Given the description of an element on the screen output the (x, y) to click on. 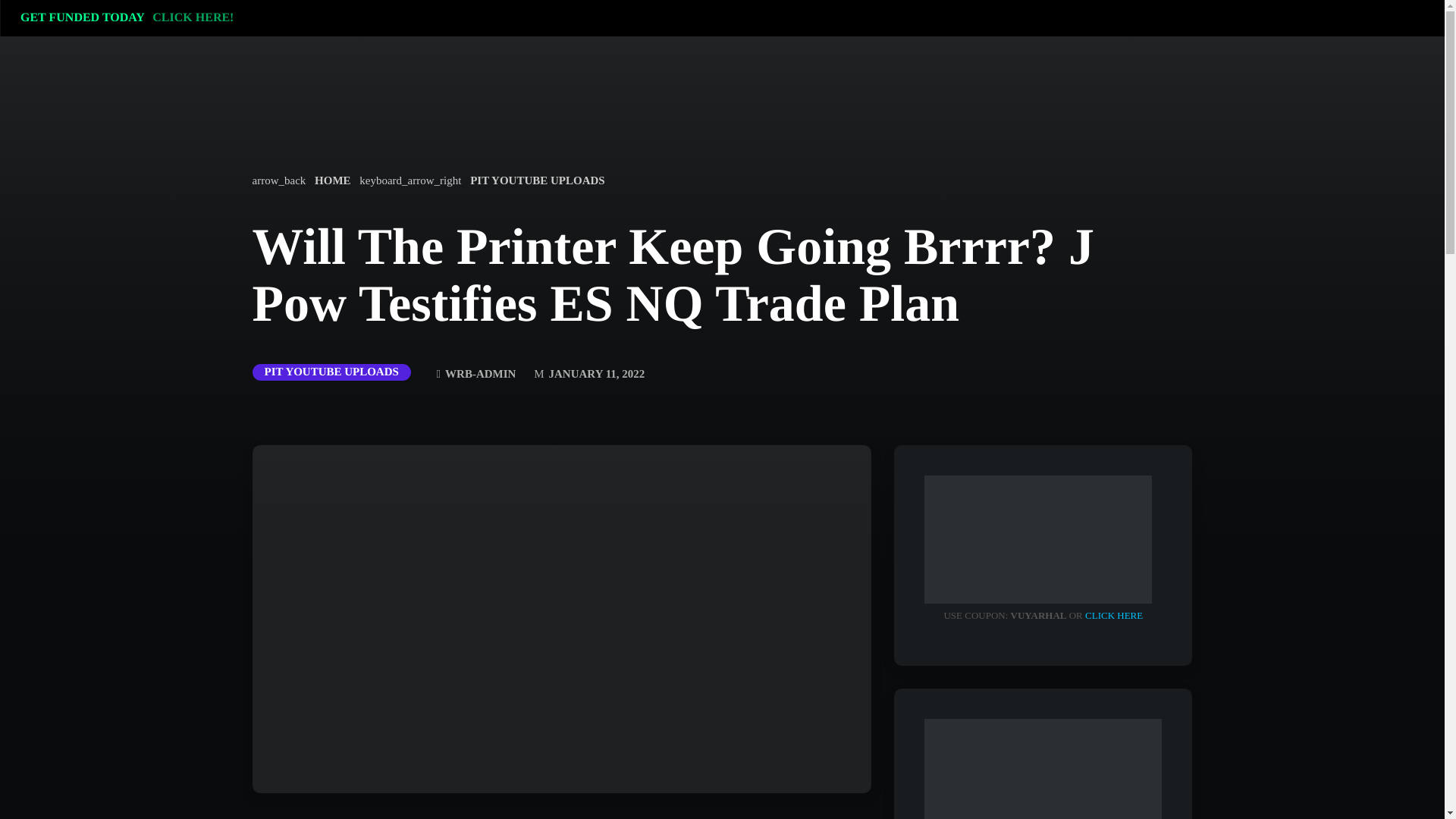
CLICK HERE (1113, 614)
PIT YOUTUBE UPLOADS (330, 371)
WRB-ADMIN (476, 374)
PIT YOUTUBE UPLOADS (535, 180)
HOME (330, 180)
GET FUNDED TODAY CLICK HERE! (131, 17)
